Given the description of an element on the screen output the (x, y) to click on. 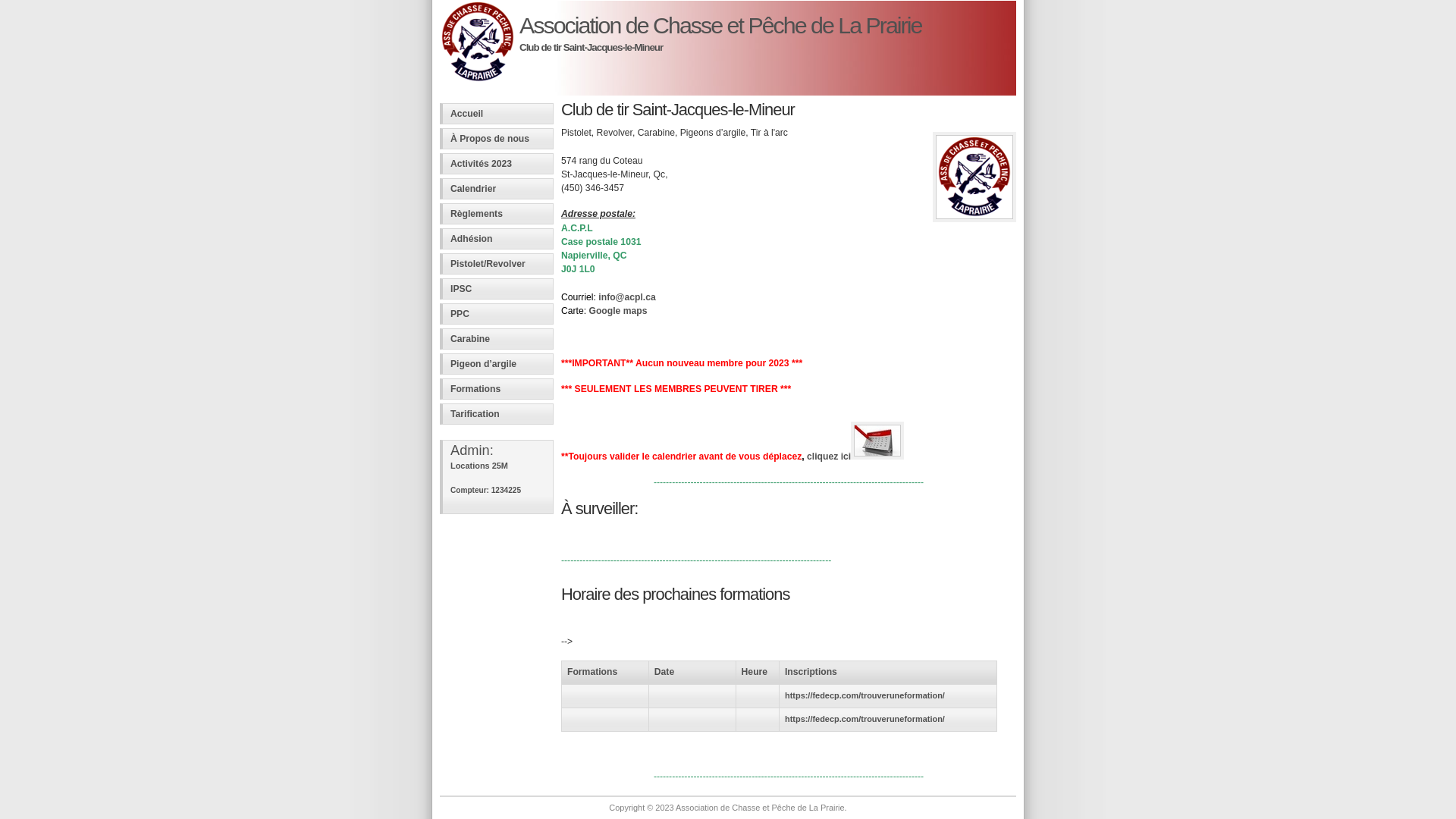
Carabine Element type: text (496, 338)
PPC Element type: text (496, 313)
IPSC Element type: text (496, 288)
https://fedecp.com/trouveruneformation/ Element type: text (864, 694)
https://fedecp.com/trouveruneformation/ Element type: text (864, 718)
Pistolet/Revolver Element type: text (496, 263)
cliquez ici Element type: text (854, 456)
Formations Element type: text (496, 388)
Tarification Element type: text (496, 413)
Calendrier Element type: text (496, 188)
info@acpl.ca Element type: text (626, 296)
Google maps Element type: text (617, 310)
Accueil Element type: text (496, 113)
Locations 25M Element type: text (479, 465)
